Given the description of an element on the screen output the (x, y) to click on. 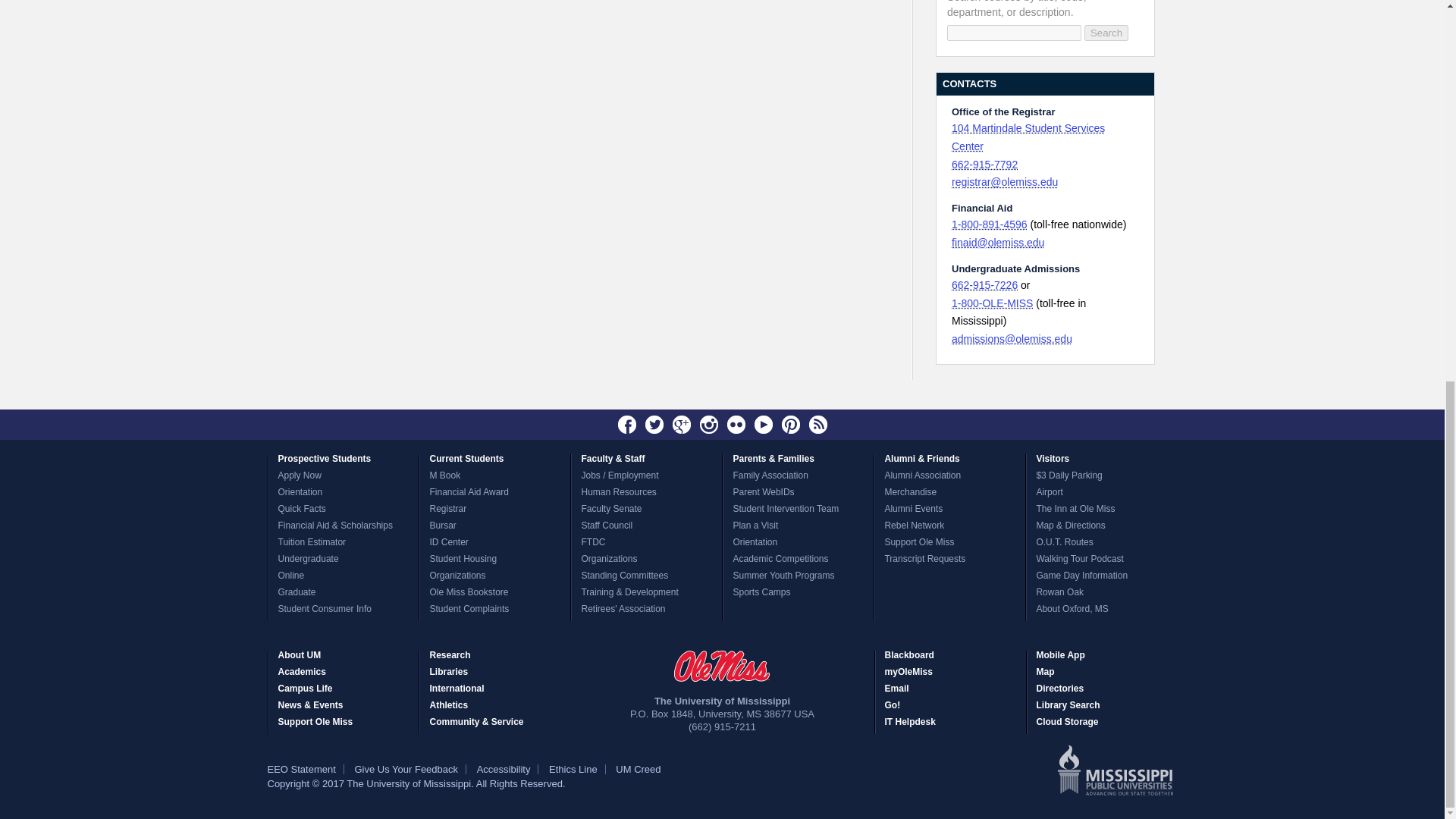
Youtube (763, 424)
Flickr (735, 424)
News Feed (818, 424)
Instagram (708, 424)
Twitter (654, 424)
Search (1106, 32)
Pinterest (790, 424)
Facebook (627, 424)
